Given the description of an element on the screen output the (x, y) to click on. 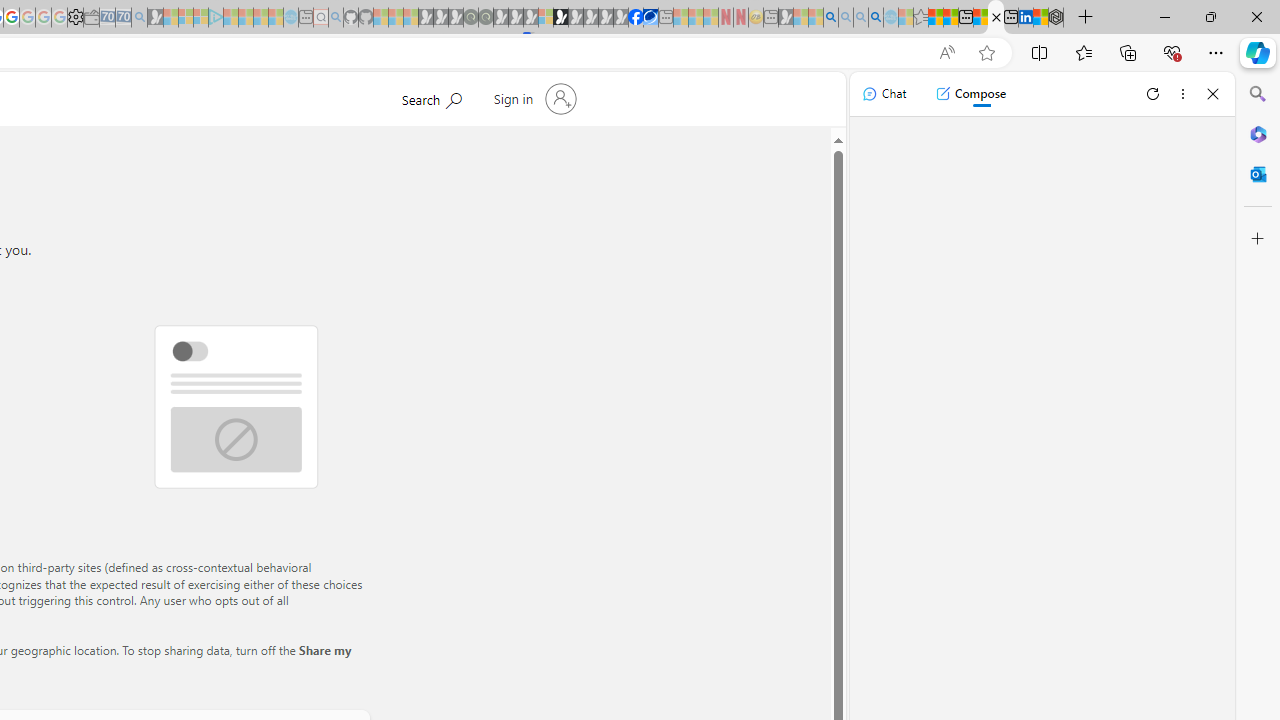
Future Focus Report 2024 - Sleeping (485, 17)
Compose (970, 93)
